Given the description of an element on the screen output the (x, y) to click on. 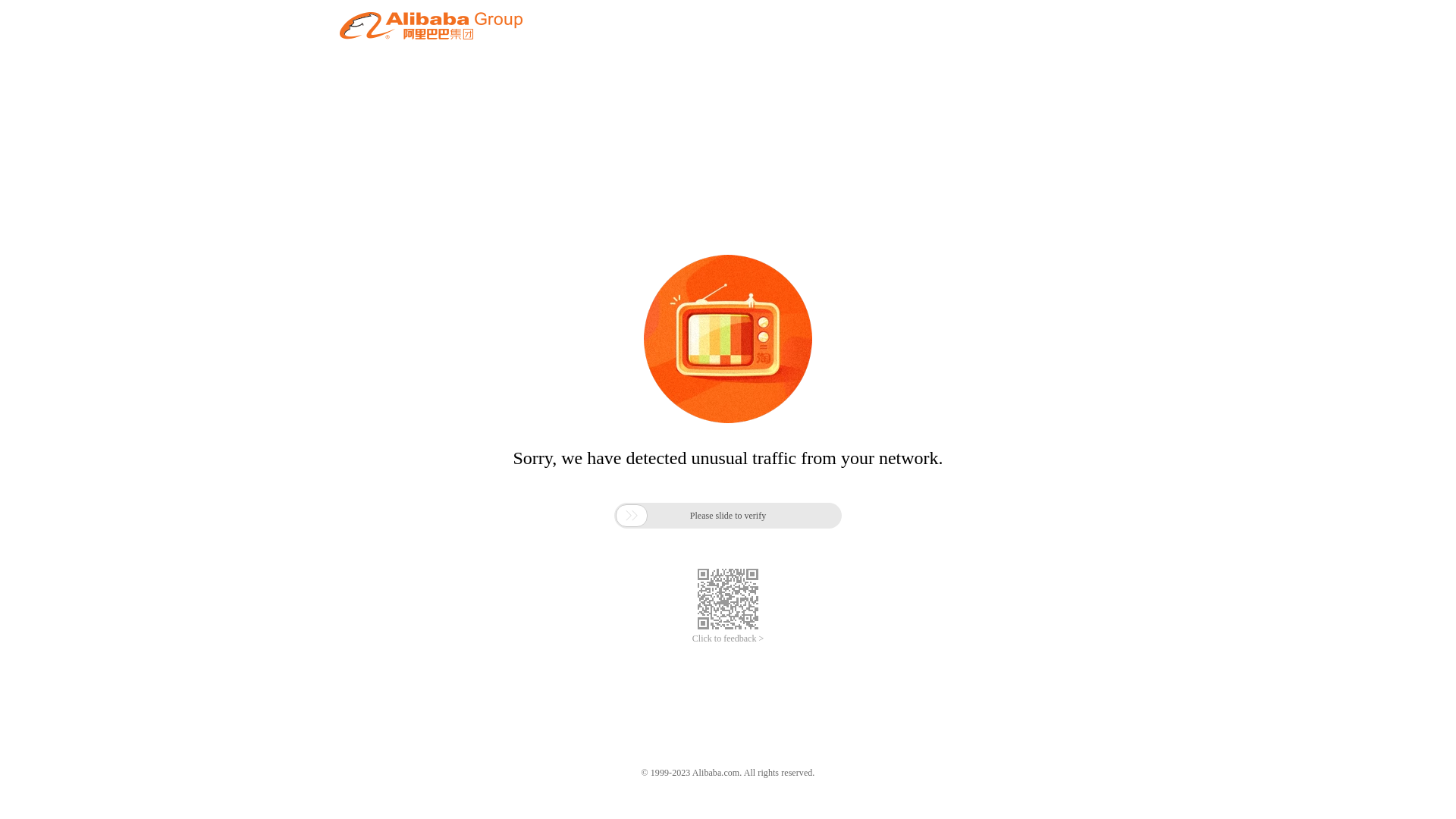
Click to feedback > Element type: text (727, 638)
